Given the description of an element on the screen output the (x, y) to click on. 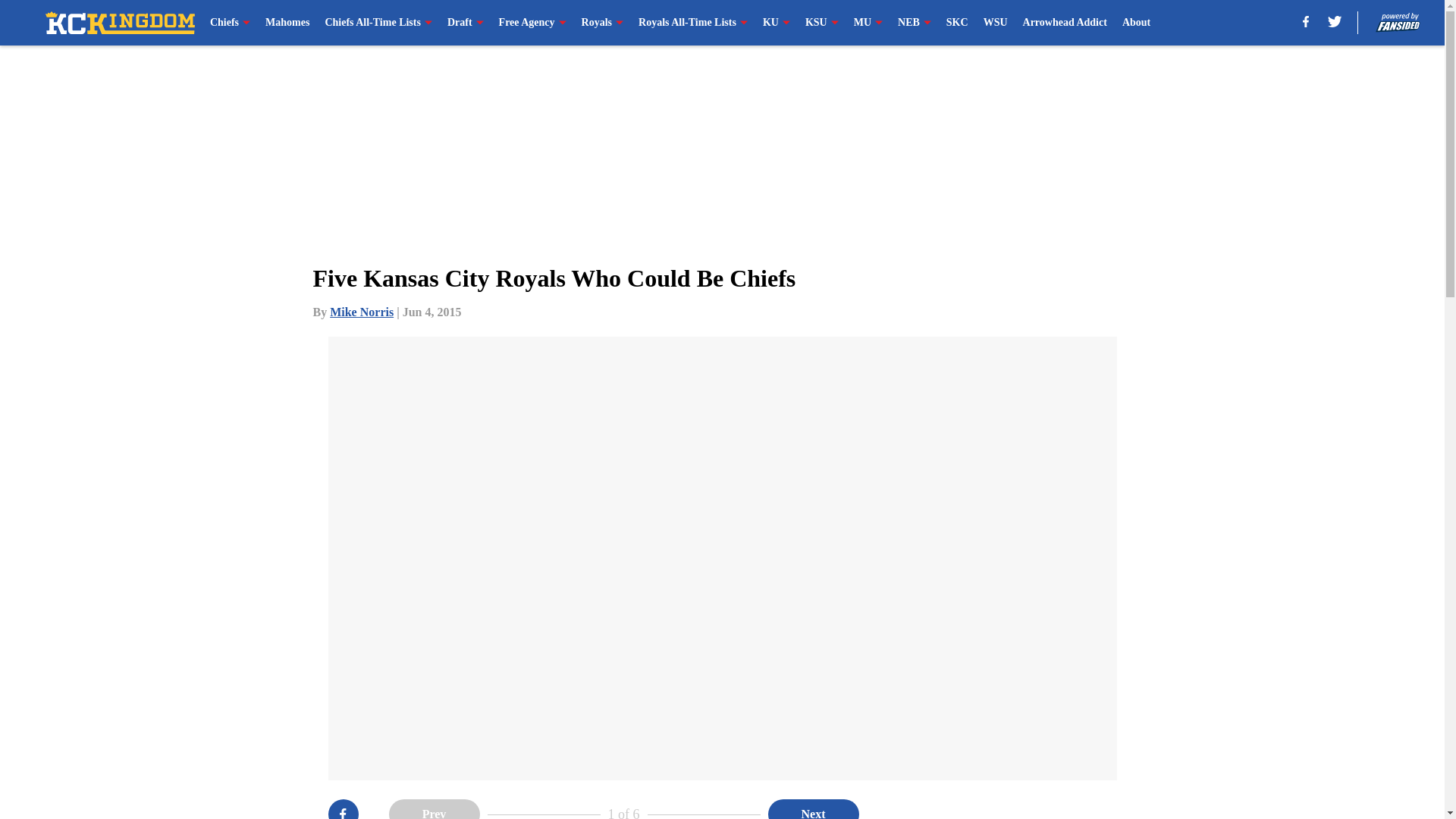
Mahomes (286, 22)
